Given the description of an element on the screen output the (x, y) to click on. 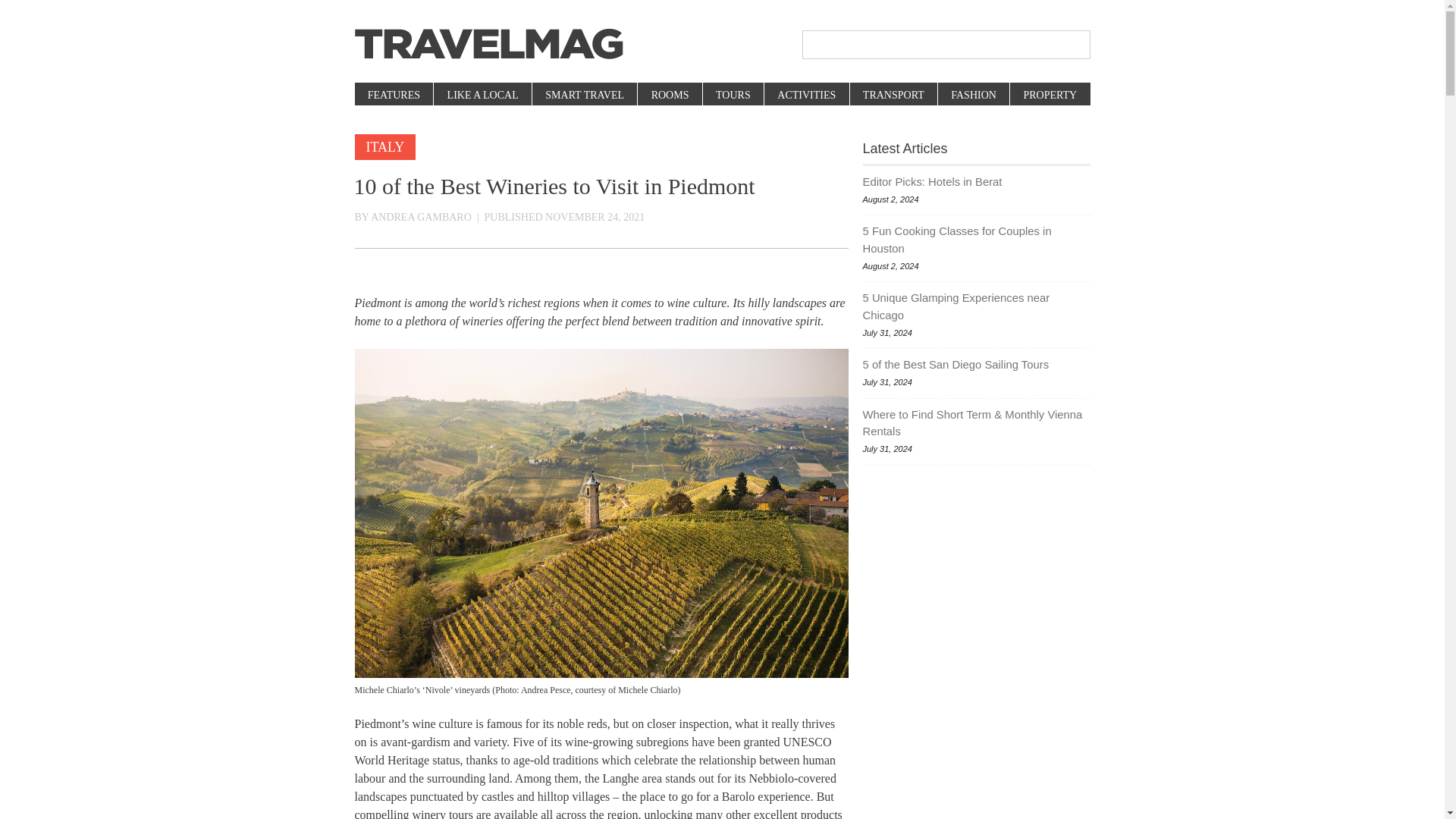
TOURS (731, 95)
ROOMS (669, 95)
SMART TRAVEL (584, 95)
FASHION (973, 95)
ACTIVITIES (805, 95)
LIKE A LOCAL (481, 95)
5 Fun Cooking Classes for Couples in Houston (976, 239)
TravelMag (489, 43)
TRANSPORT (892, 95)
FEATURES (394, 95)
5 of the Best San Diego Sailing Tours (976, 364)
5 Unique Glamping Experiences near Chicago (976, 306)
PROPERTY (1049, 95)
Editor Picks: Hotels in Berat (976, 181)
